Given the description of an element on the screen output the (x, y) to click on. 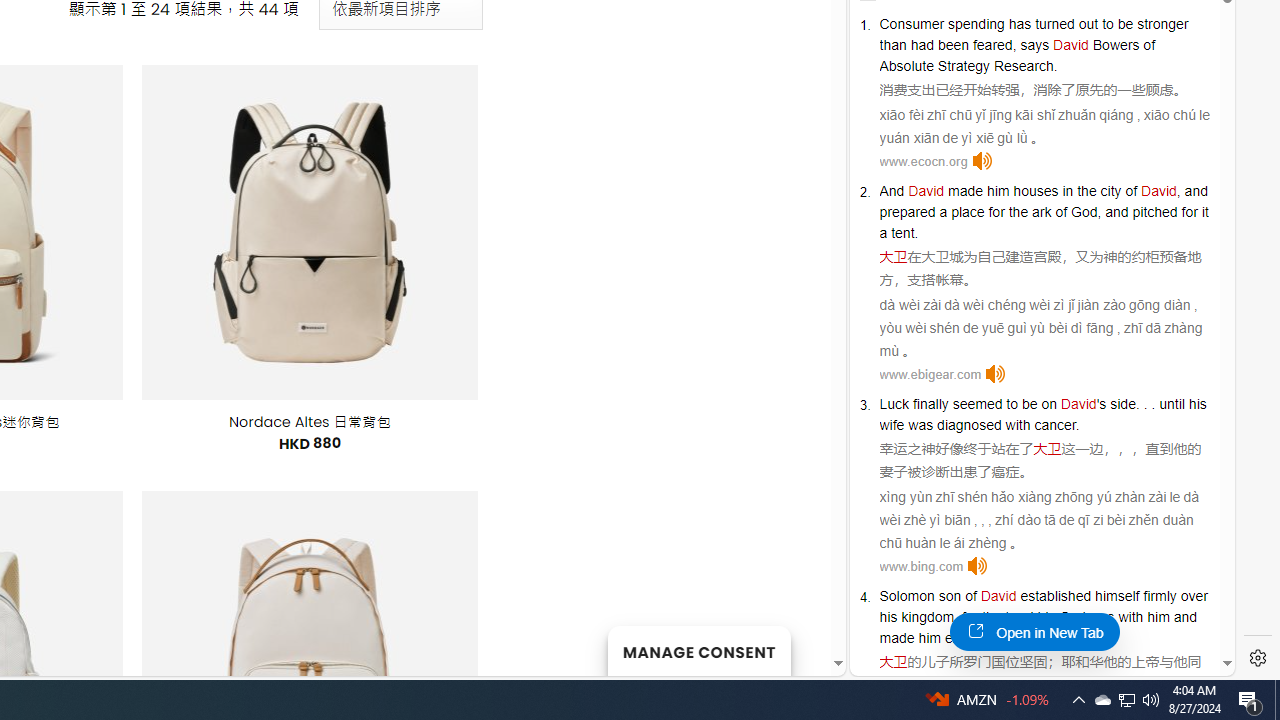
made (897, 637)
pitched (1154, 211)
turned (1055, 23)
. (1055, 637)
to (1107, 23)
